Given the description of an element on the screen output the (x, y) to click on. 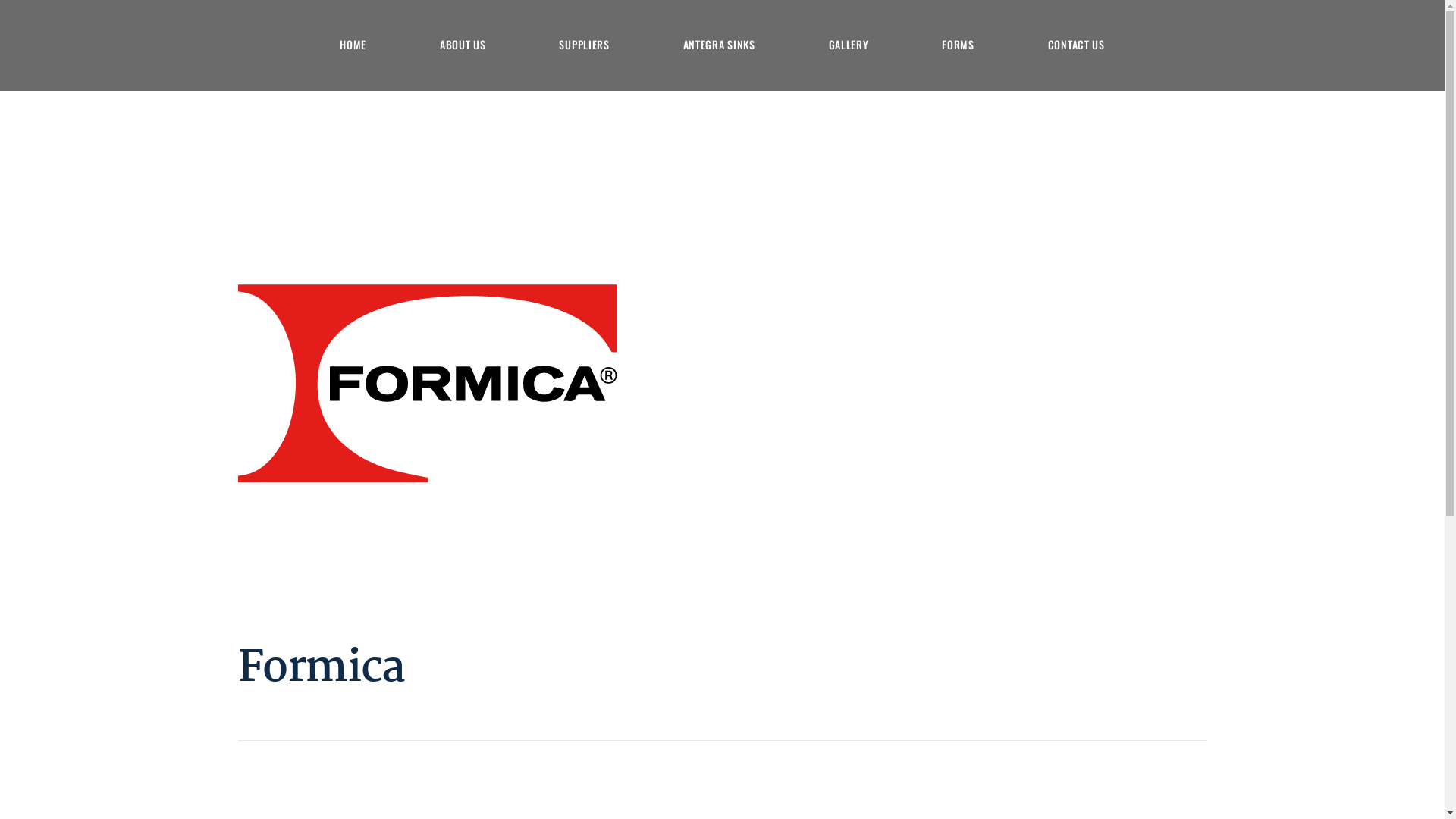
FORMS Element type: text (957, 45)
ABOUT US Element type: text (462, 45)
ANTEGRA SINKS Element type: text (718, 45)
CONTACT US Element type: text (1076, 45)
HOME Element type: text (352, 45)
SUPPLIERS Element type: text (583, 45)
GALLERY Element type: text (848, 45)
